Given the description of an element on the screen output the (x, y) to click on. 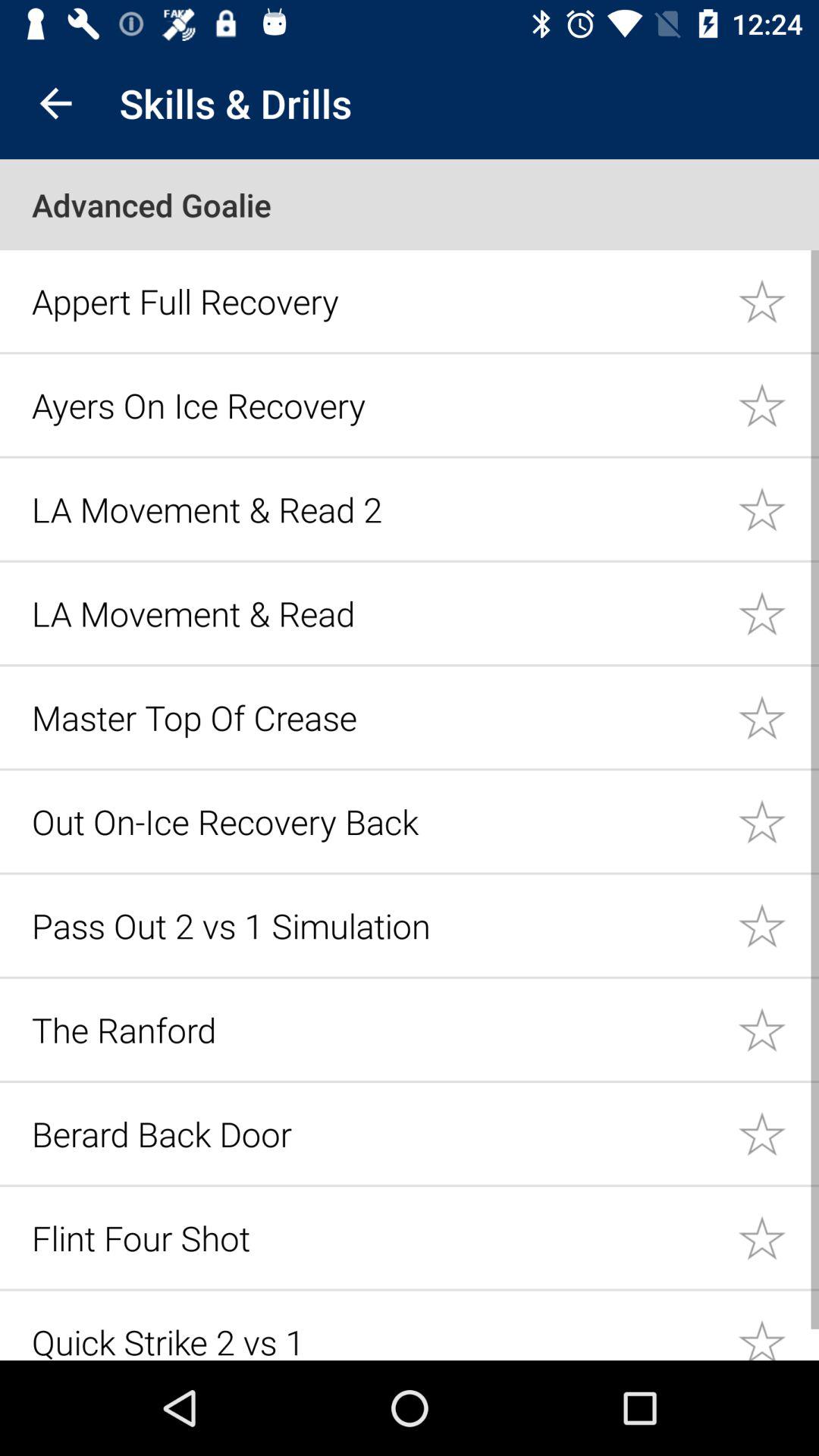
favorite (778, 613)
